Given the description of an element on the screen output the (x, y) to click on. 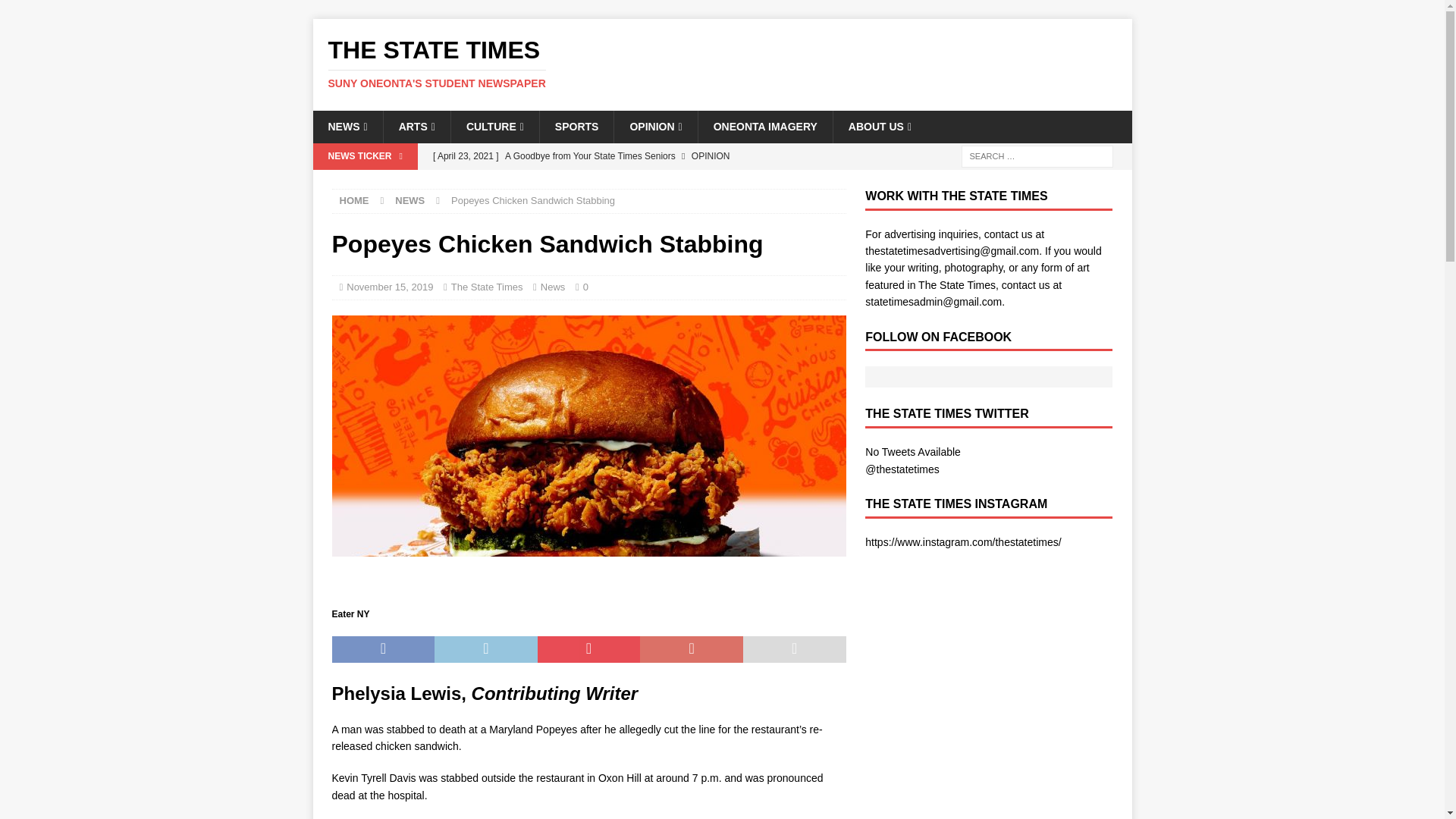
ONEONTA IMAGERY (764, 126)
ARTS (415, 126)
HOME (354, 200)
ABOUT US (879, 126)
CULTURE (493, 126)
News (553, 286)
OPINION (654, 126)
NEWS (409, 200)
SPORTS (576, 126)
November 15, 2019 (389, 286)
The State Times (486, 286)
Search (56, 11)
The State Times (721, 63)
NEWS (721, 63)
